Given the description of an element on the screen output the (x, y) to click on. 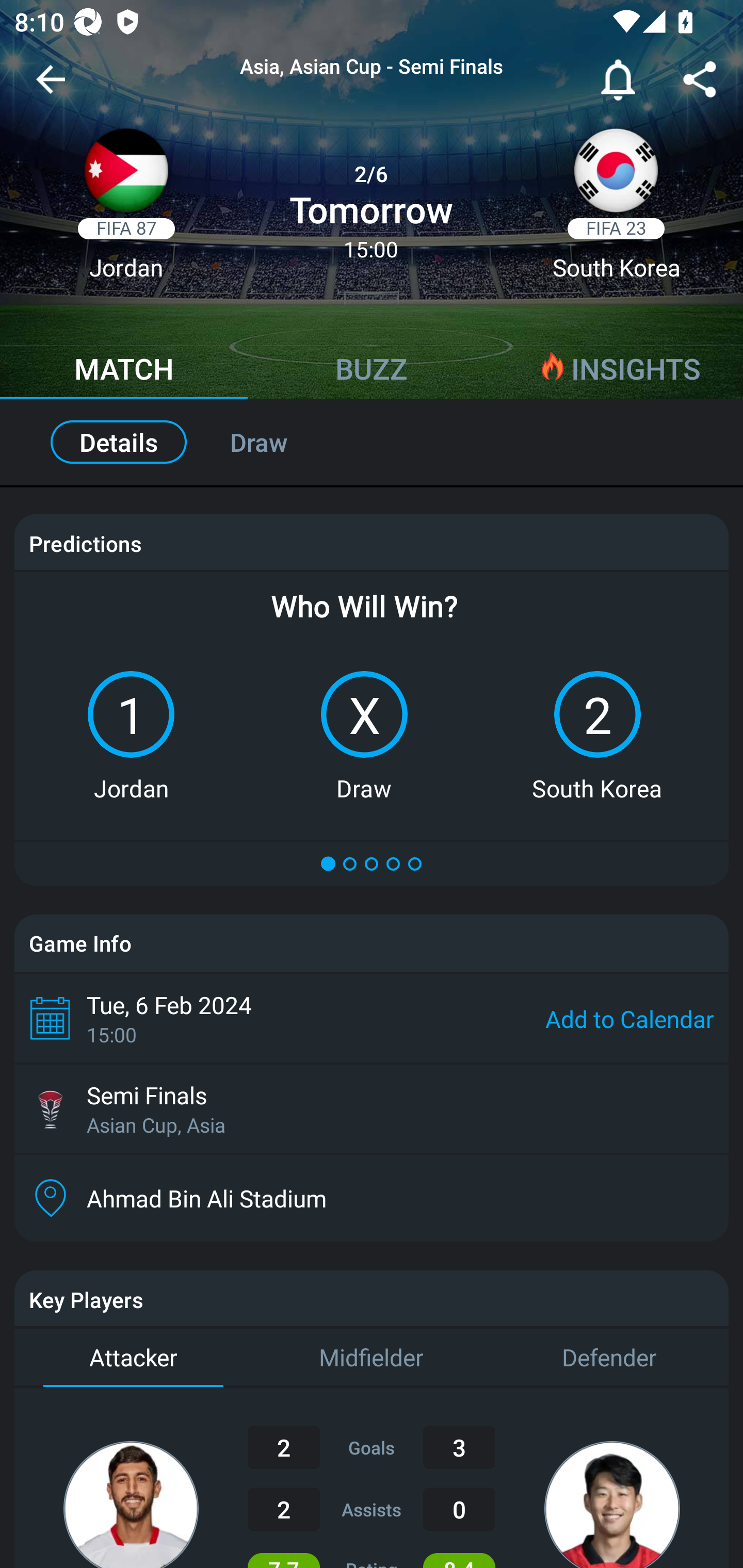
Navigate up (50, 86)
Asia, Asian Cup - Semi Finals (371, 66)
Share (699, 82)
FIFA 87 Jordan (126, 210)
FIFA 23 South Korea (616, 210)
MATCH (123, 371)
BUZZ (371, 371)
INSIGHTS (619, 371)
Draw (280, 442)
Predictions (85, 544)
1 (130, 714)
X (363, 714)
2 (597, 714)
Game Info (371, 943)
Tue, 6 Feb 2024 15:00 Add to Calendar (371, 1018)
Semi Finals Asian Cup, Asia (371, 1108)
Ahmad Bin Ali Stadium (371, 1198)
Midfielder (371, 1358)
Defender (609, 1358)
